Given the description of an element on the screen output the (x, y) to click on. 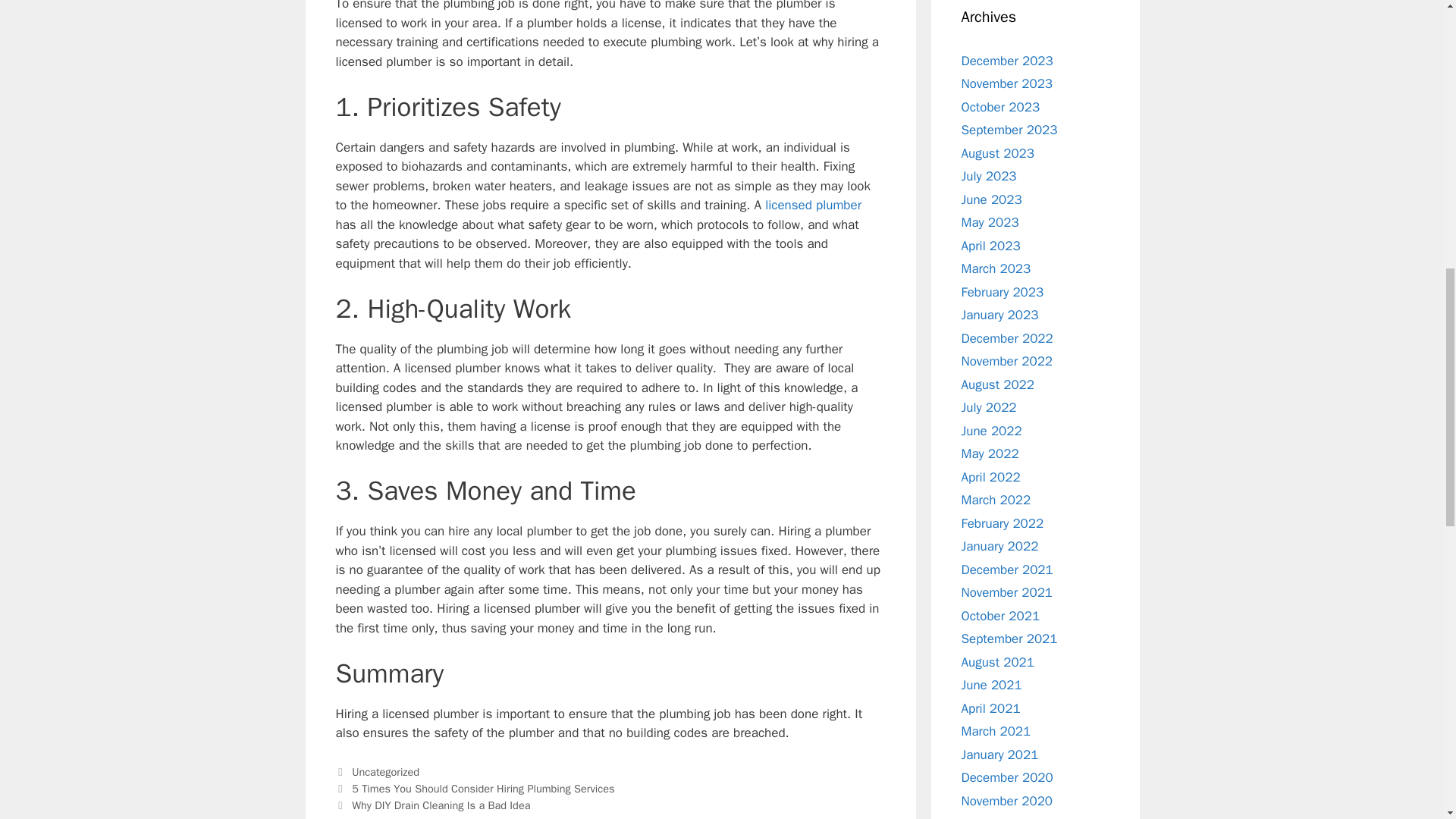
Uncategorized (385, 771)
June 2022 (991, 430)
November 2023 (1006, 83)
July 2023 (988, 176)
December 2023 (1006, 60)
August 2022 (996, 383)
February 2022 (1001, 523)
January 2022 (999, 546)
March 2022 (995, 499)
November 2022 (1006, 360)
May 2022 (989, 453)
November 2021 (1006, 592)
September 2021 (1009, 638)
Previous (474, 788)
January 2023 (999, 314)
